Given the description of an element on the screen output the (x, y) to click on. 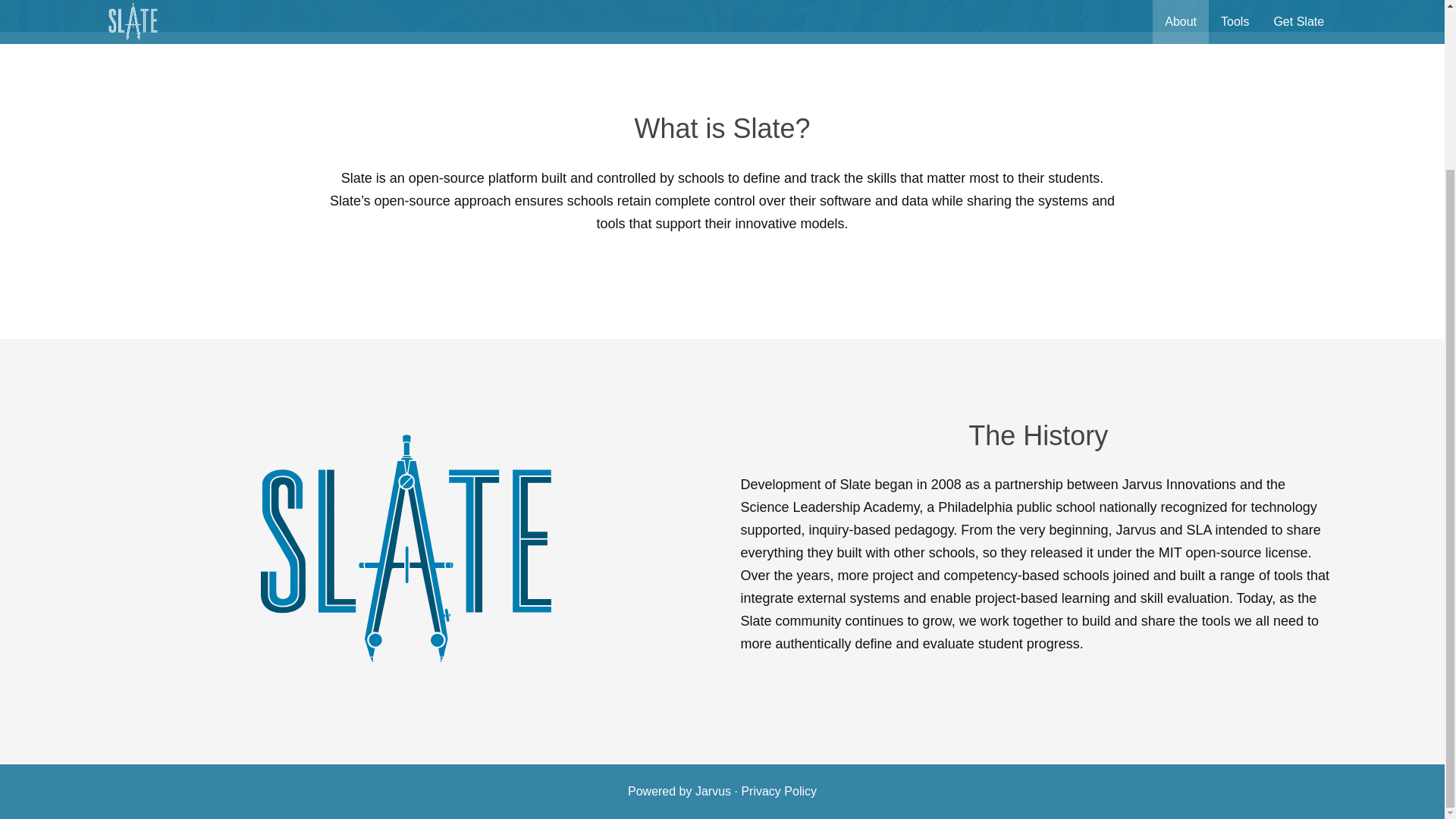
Powered by Jarvus (678, 790)
Privacy Policy (778, 790)
